Given the description of an element on the screen output the (x, y) to click on. 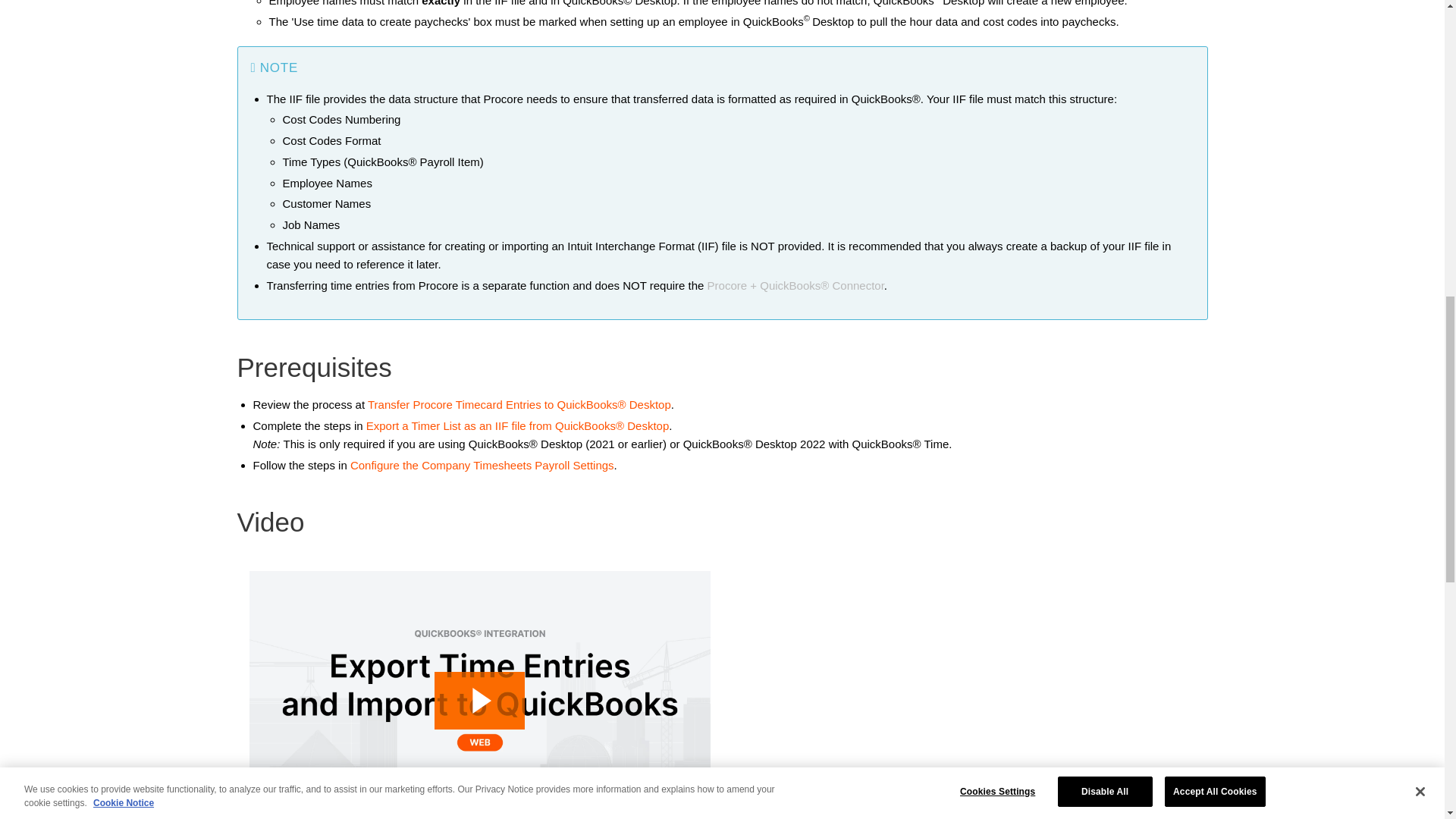
Configure the Company Timesheets Payroll Settings (482, 464)
